Given the description of an element on the screen output the (x, y) to click on. 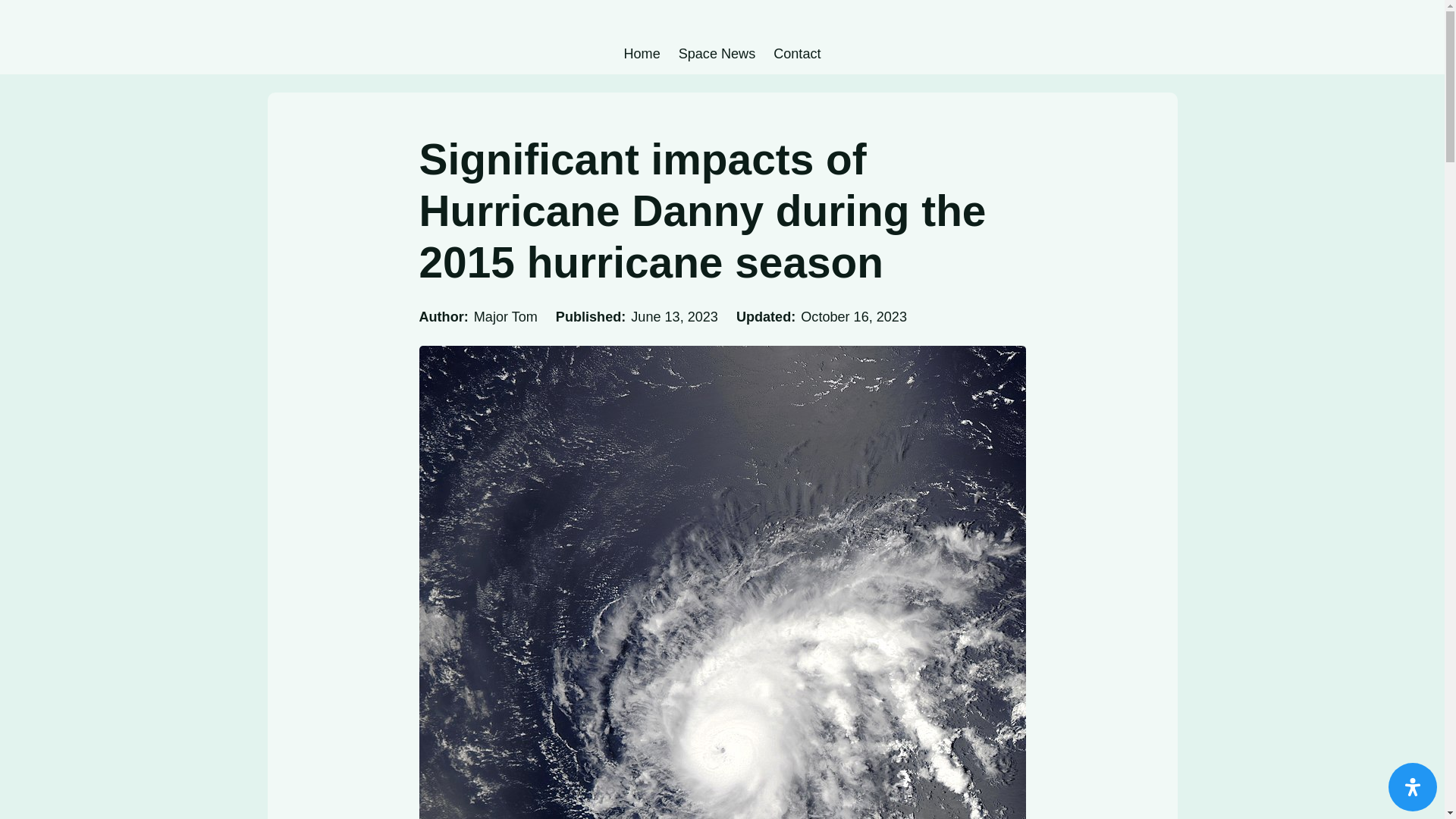
Contact (797, 53)
Home (641, 53)
Space News (716, 53)
